Given the description of an element on the screen output the (x, y) to click on. 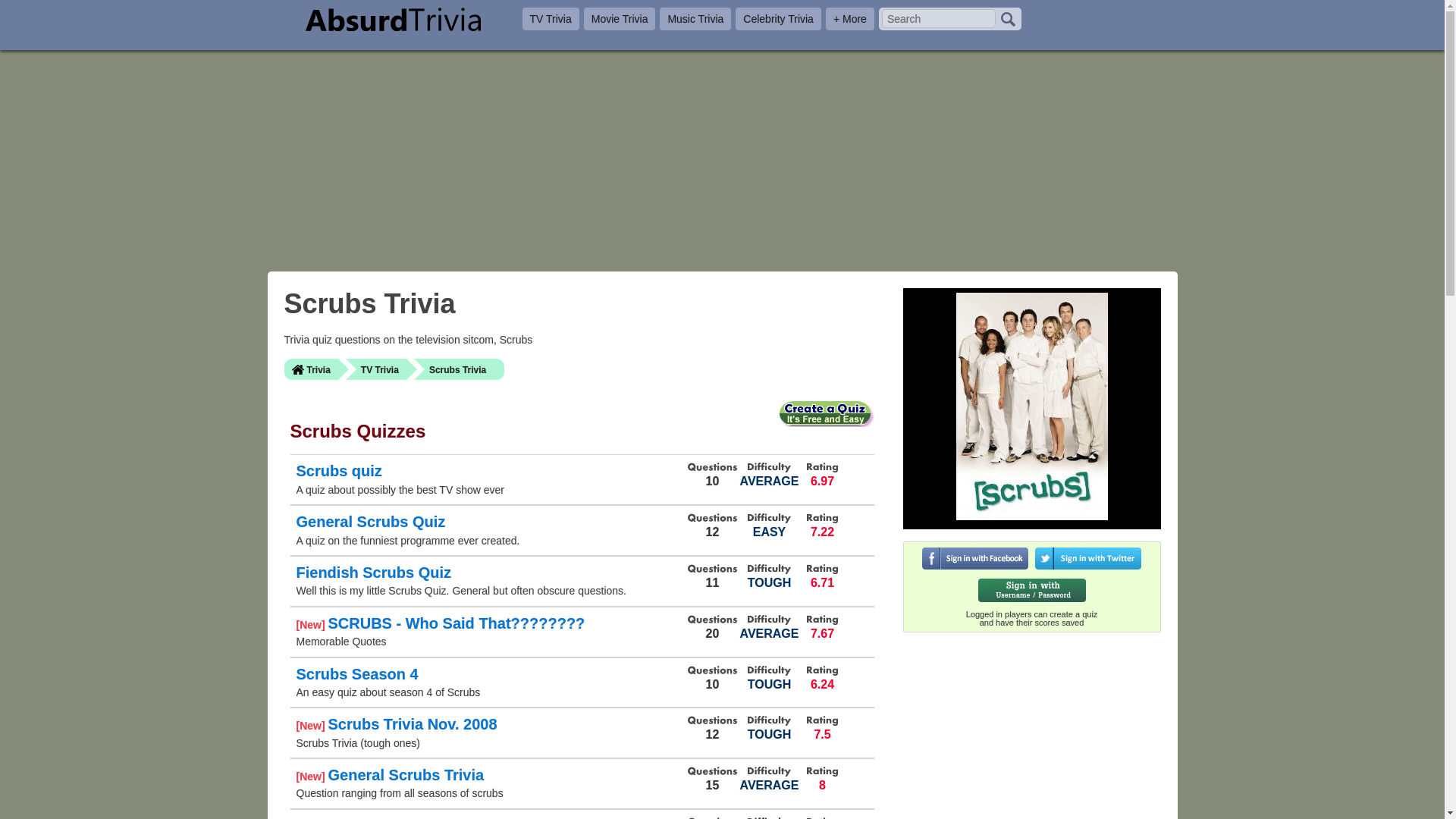
General Scrubs Trivia (405, 774)
General Scrubs Quiz (370, 521)
Scrubs Trivia (458, 369)
Absurd Trivia (392, 19)
SCRUBS - Who Said That???????? (456, 623)
TV Trivia (376, 369)
TV Trivia (549, 18)
Music Trivia (694, 18)
Scrubs Trivia Nov. 2008 (411, 723)
Advertisement (1031, 737)
Trivia (310, 369)
Celebrity Trivia (778, 18)
Scrubs quiz (338, 470)
Fiendish Scrubs Quiz (372, 572)
